Given the description of an element on the screen output the (x, y) to click on. 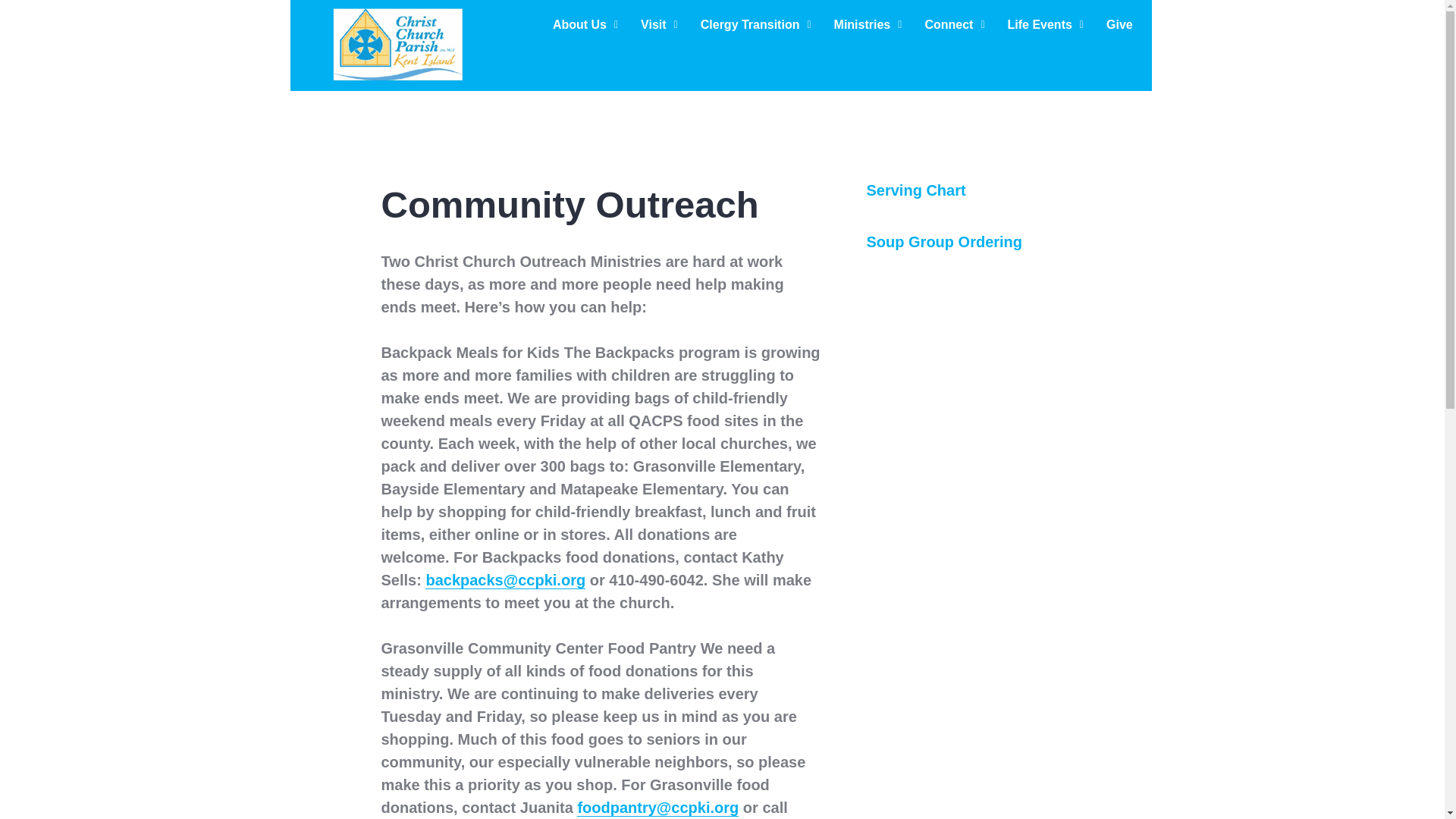
Visit (658, 24)
Clergy Transition (755, 24)
About Us (584, 24)
Ministries (868, 24)
New-Logo-Blue-Background-smaller (397, 45)
